Given the description of an element on the screen output the (x, y) to click on. 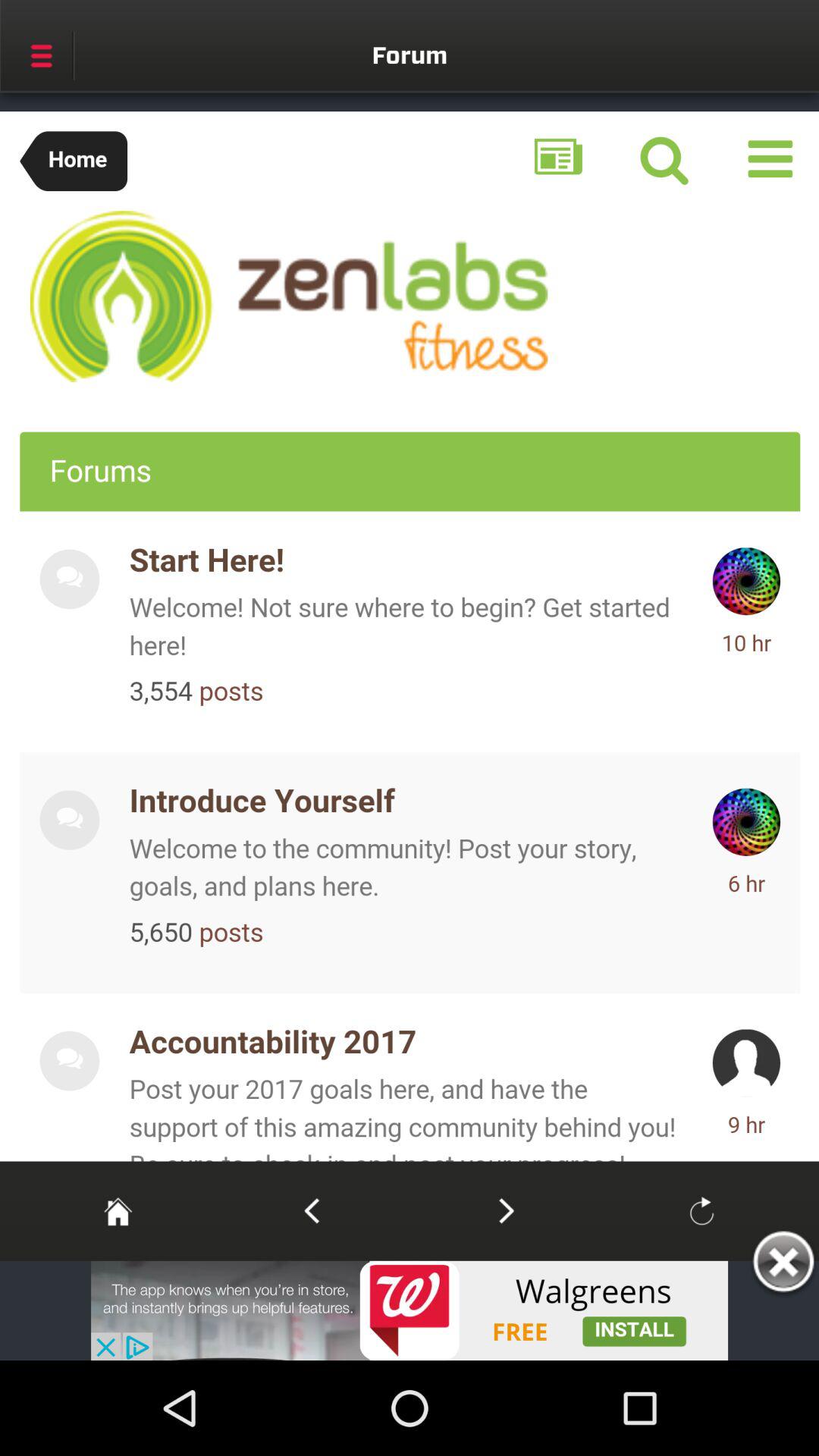
view advertisement (409, 1310)
